Given the description of an element on the screen output the (x, y) to click on. 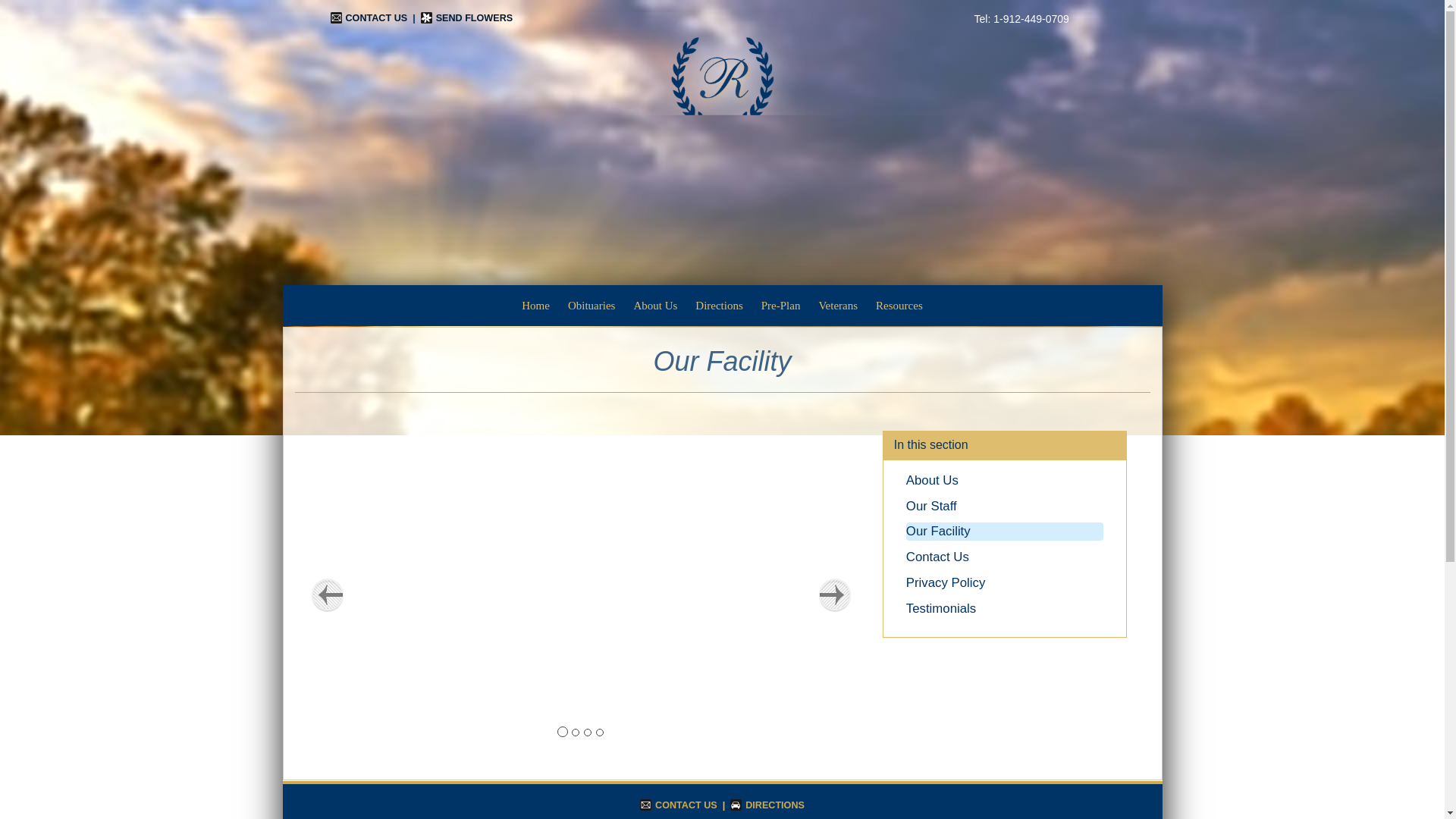
Pre-Plan (780, 305)
Directions (718, 305)
Our Facility (938, 531)
DIRECTIONS (767, 805)
Veterans (837, 305)
Contact Us (937, 556)
SEND FLOWERS (466, 18)
Privacy Policy (945, 582)
Obituaries (591, 305)
About Us (654, 305)
